Given the description of an element on the screen output the (x, y) to click on. 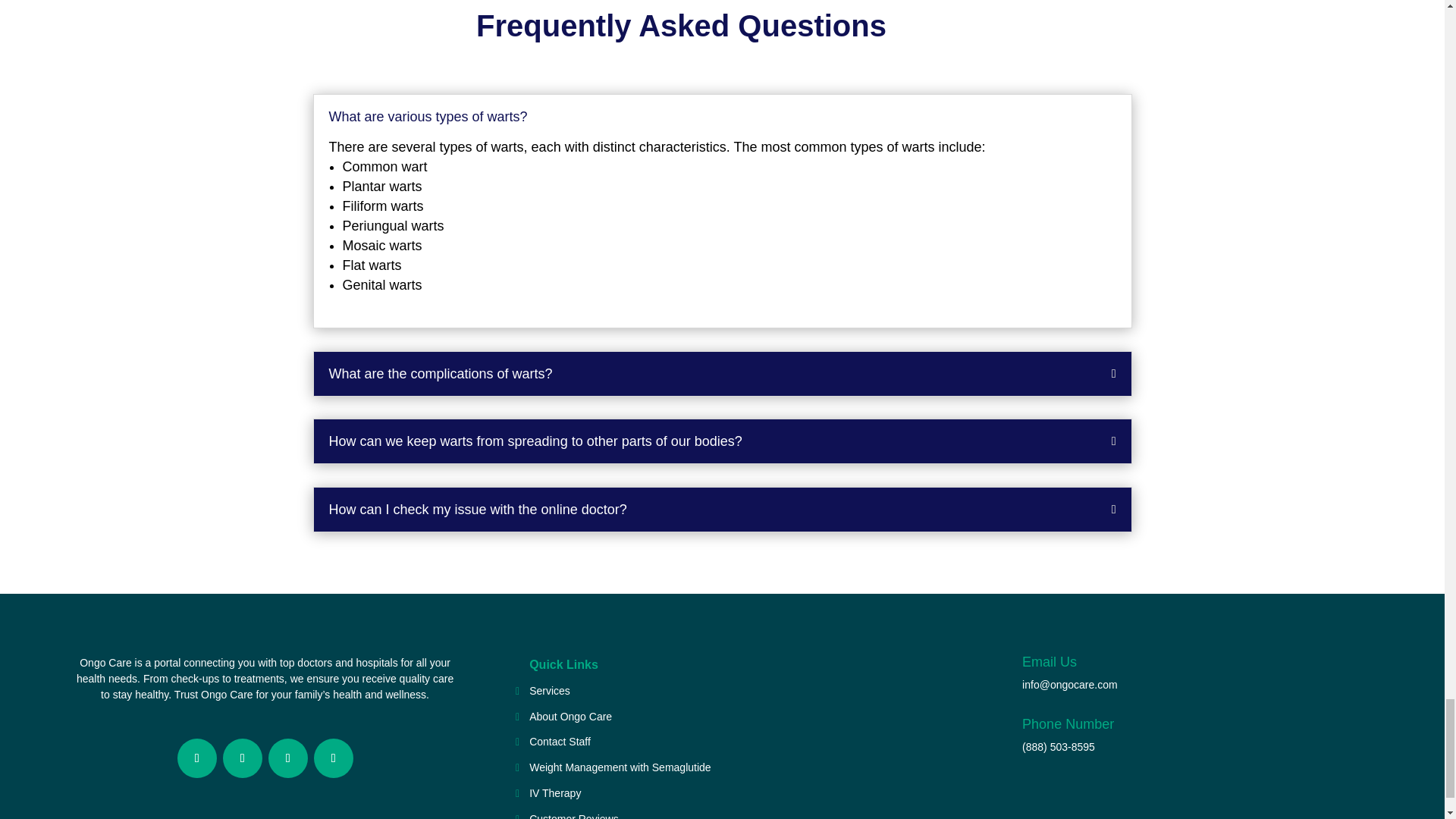
Contact Staff (560, 742)
About Ongo Care (570, 717)
Follow on LinkedIn (287, 758)
Services (549, 691)
Customer Reviews (573, 814)
Follow on Google (333, 758)
Follow on Instagram (196, 758)
Weight Management with Semaglutide (619, 768)
Follow on Facebook (242, 758)
IV Therapy (554, 793)
